Given the description of an element on the screen output the (x, y) to click on. 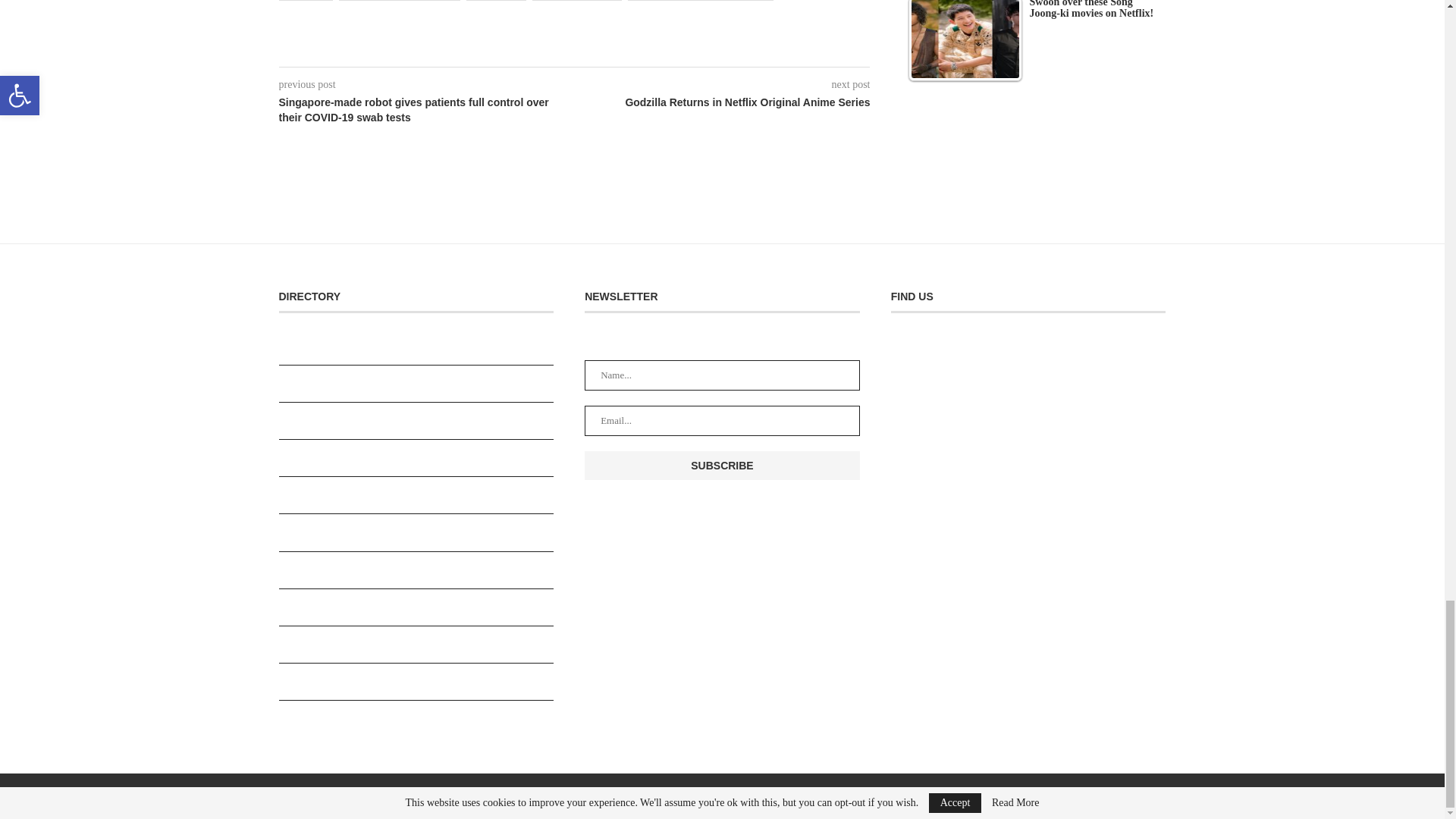
Subscribe (722, 465)
